Given the description of an element on the screen output the (x, y) to click on. 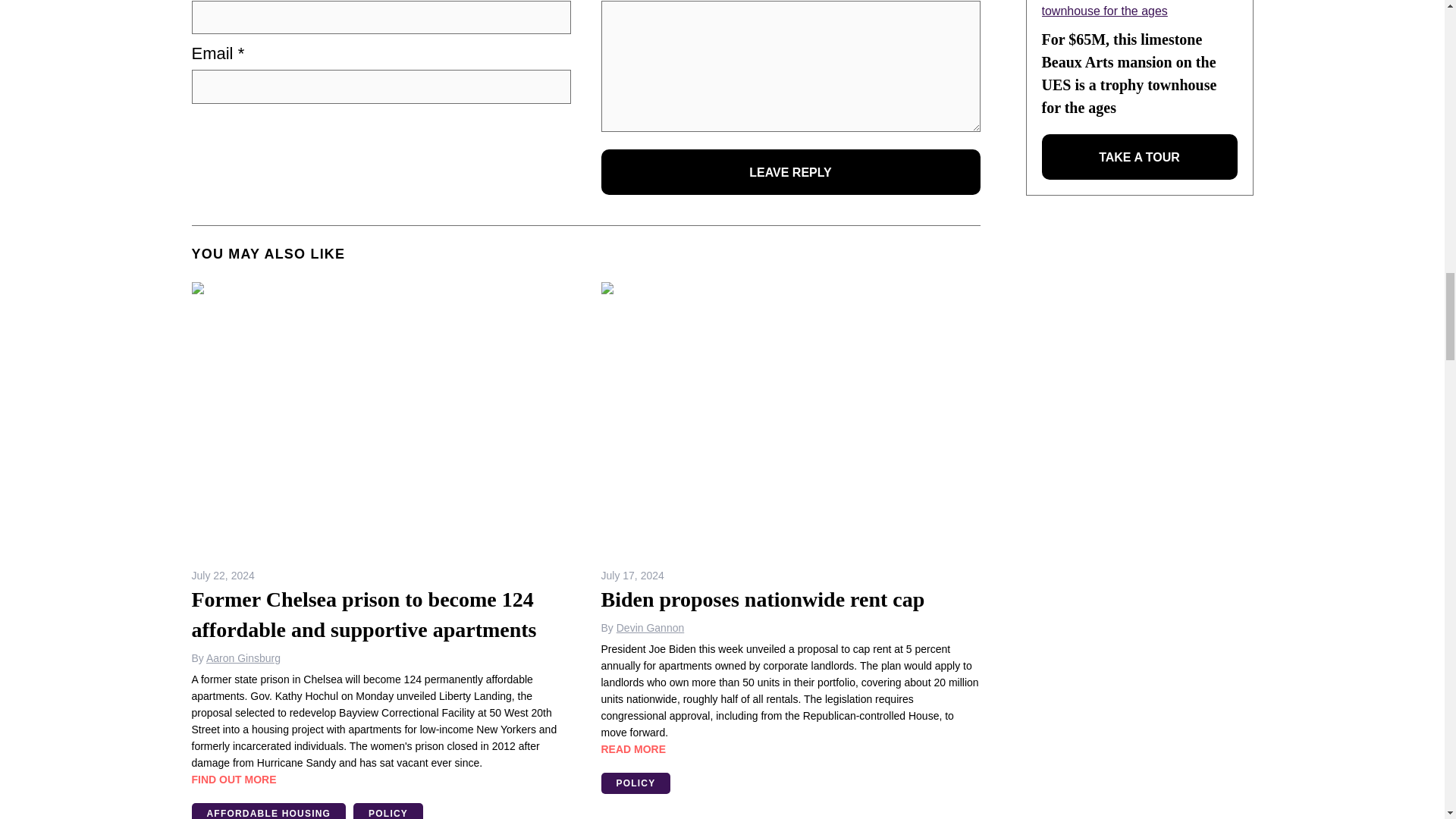
Biden proposes nationwide rent cap (789, 418)
Posts by Devin Gannon (649, 627)
Leave Reply (789, 171)
Posts by Aaron Ginsburg (243, 657)
